Given the description of an element on the screen output the (x, y) to click on. 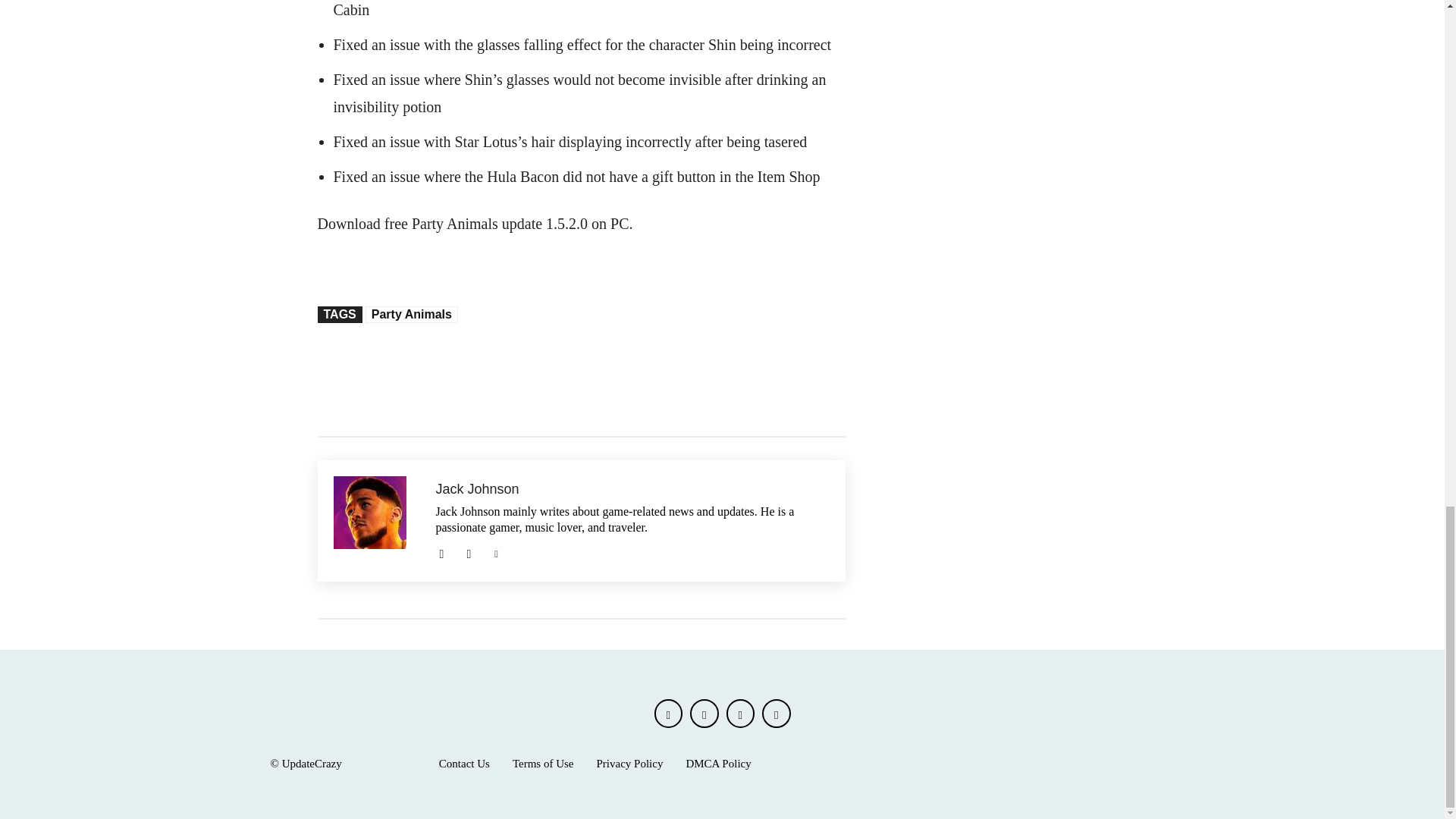
Twitter (495, 551)
Reddit (468, 551)
Facebook (667, 713)
Mail (440, 551)
Jack Johnson (631, 489)
Party Animals (411, 314)
Contact Us (464, 763)
Jack Johnson (376, 520)
